Given the description of an element on the screen output the (x, y) to click on. 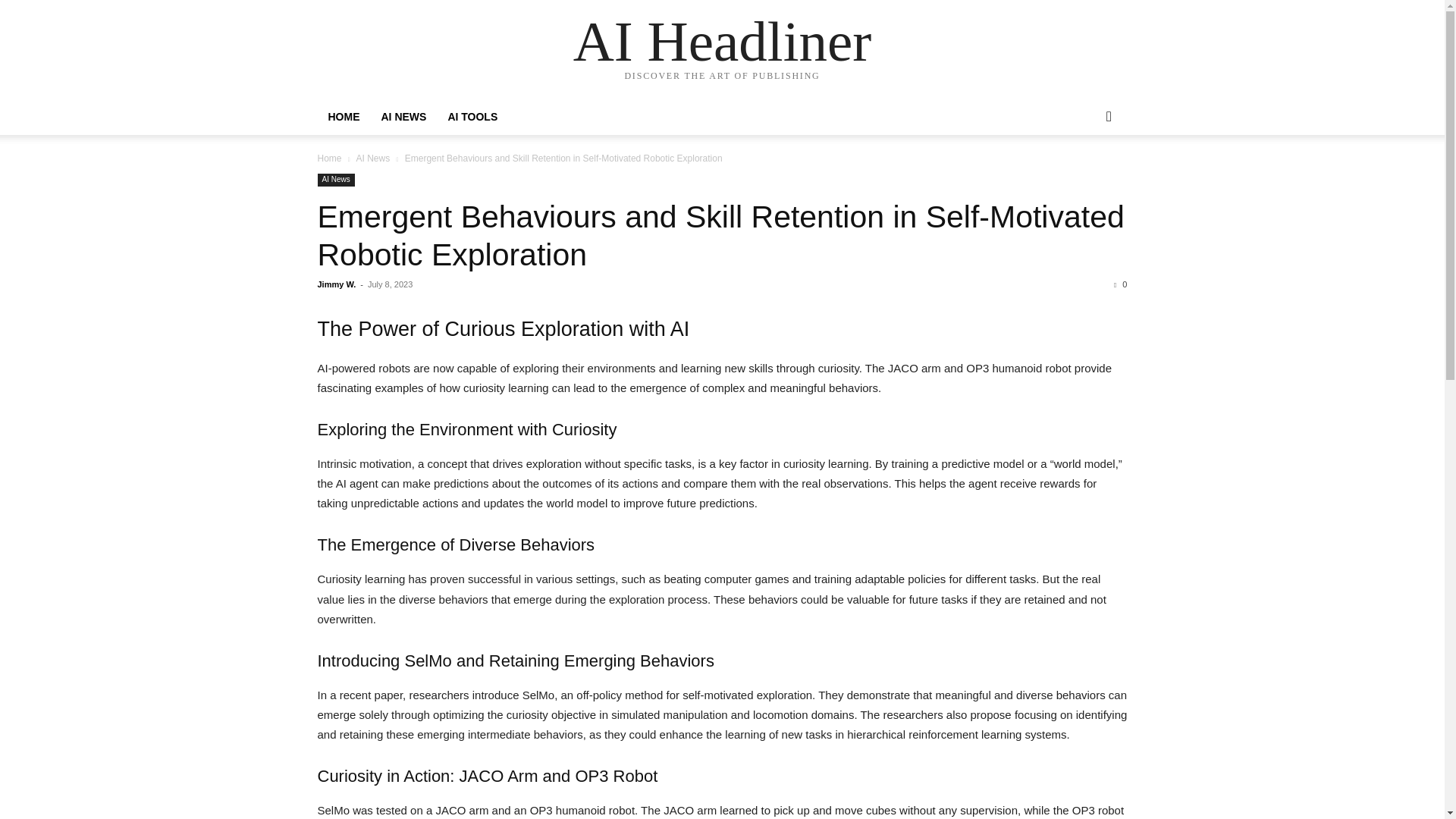
Jimmy W. (336, 284)
AI News (372, 158)
Search (1085, 177)
AI News (335, 179)
AI NEWS (402, 116)
0 (1119, 284)
AI TOOLS (472, 116)
Home (328, 158)
AI Headliner (722, 41)
